Given the description of an element on the screen output the (x, y) to click on. 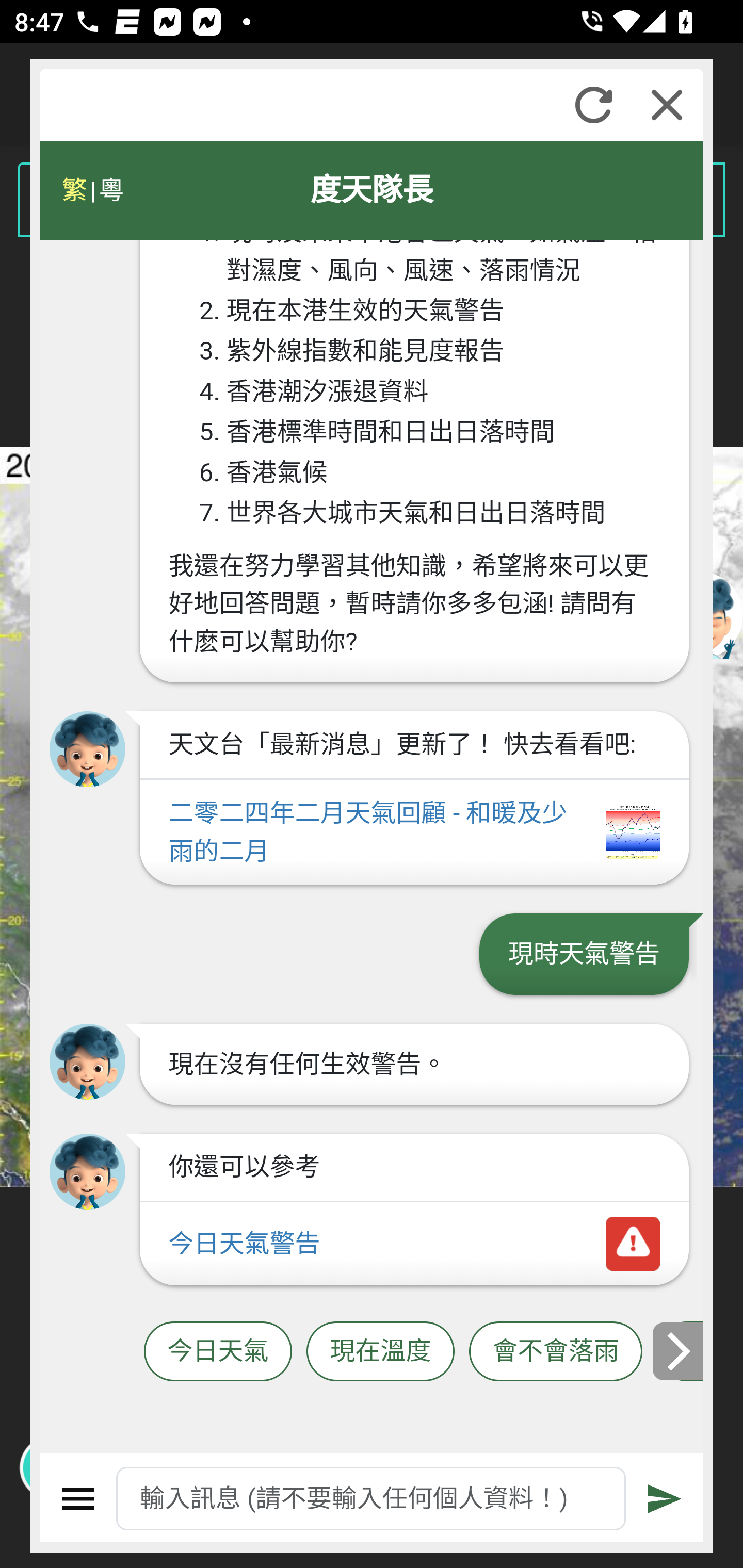
重新整理 (593, 104)
關閉 (666, 104)
繁 (73, 190)
粵 (110, 190)
二零二四年二月天氣回顧 - 和暖及少雨的二月 (413, 832)
今日天氣警告 (413, 1244)
今日天氣 (217, 1351)
現在溫度 (380, 1351)
會不會落雨 (555, 1351)
下一張 (678, 1351)
選單 (78, 1498)
遞交 (665, 1498)
